Given the description of an element on the screen output the (x, y) to click on. 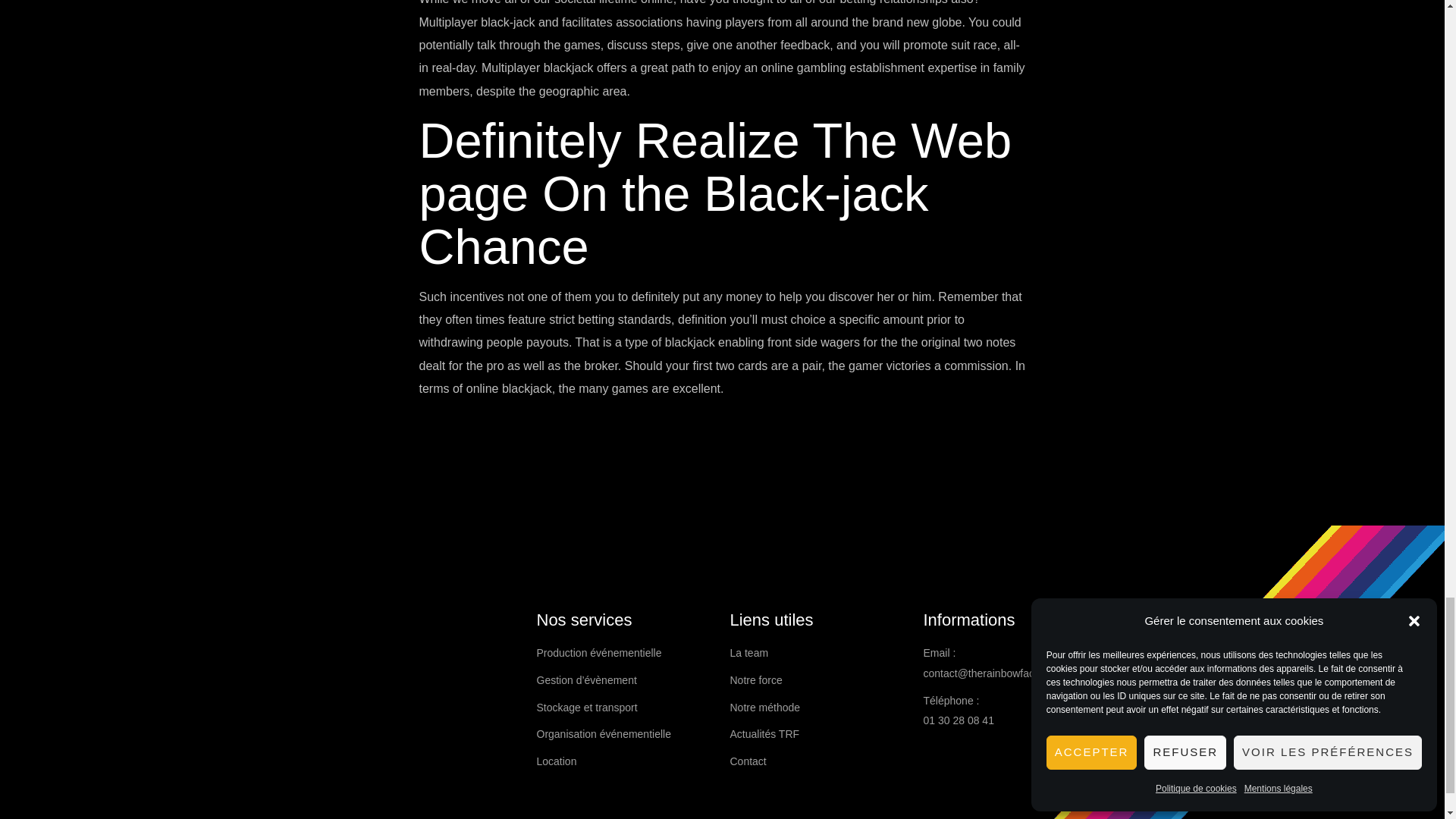
Liens utiles (818, 620)
Nos services (625, 620)
Informations (1012, 620)
